Given the description of an element on the screen output the (x, y) to click on. 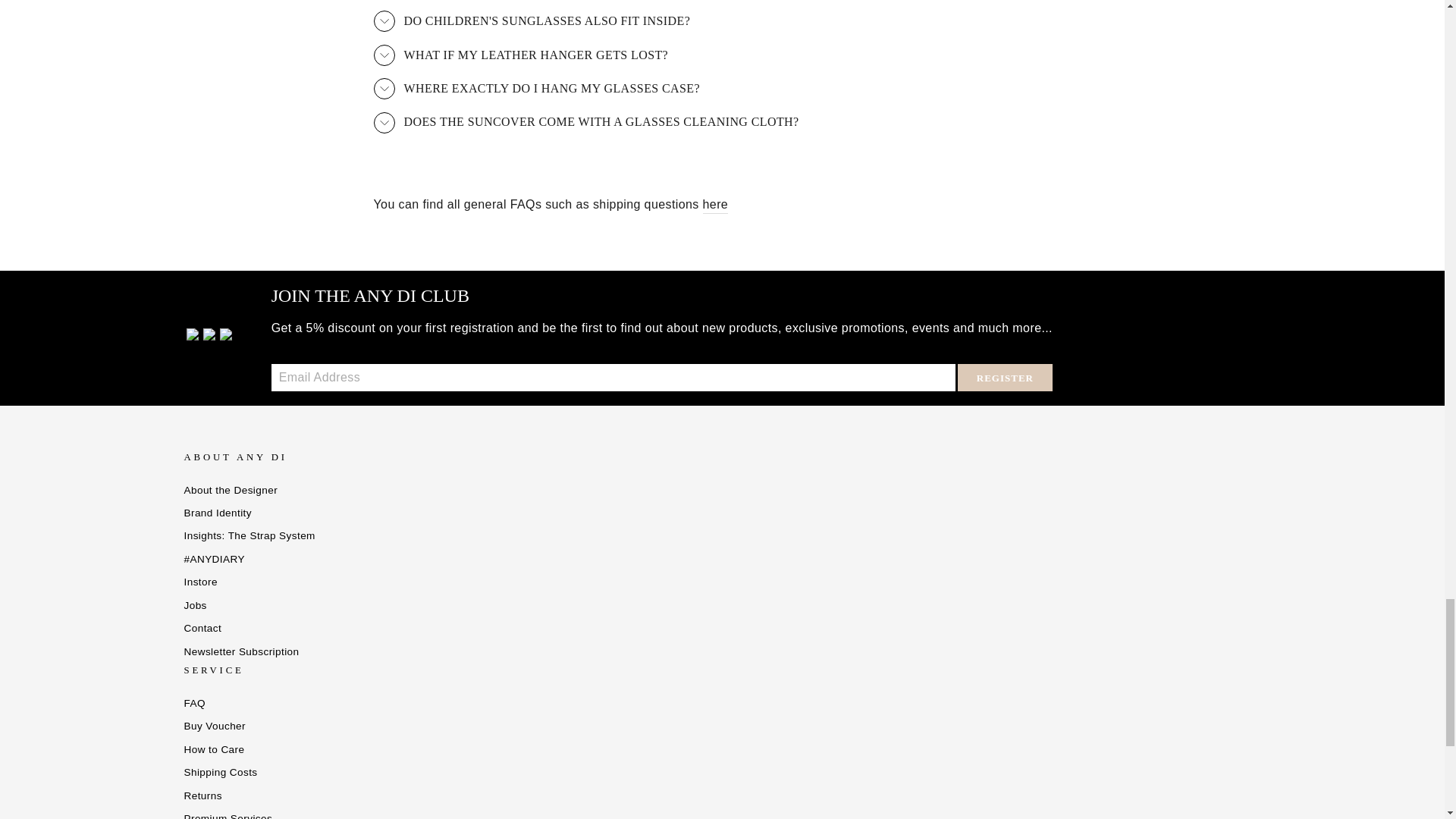
FAQ (716, 204)
